Given the description of an element on the screen output the (x, y) to click on. 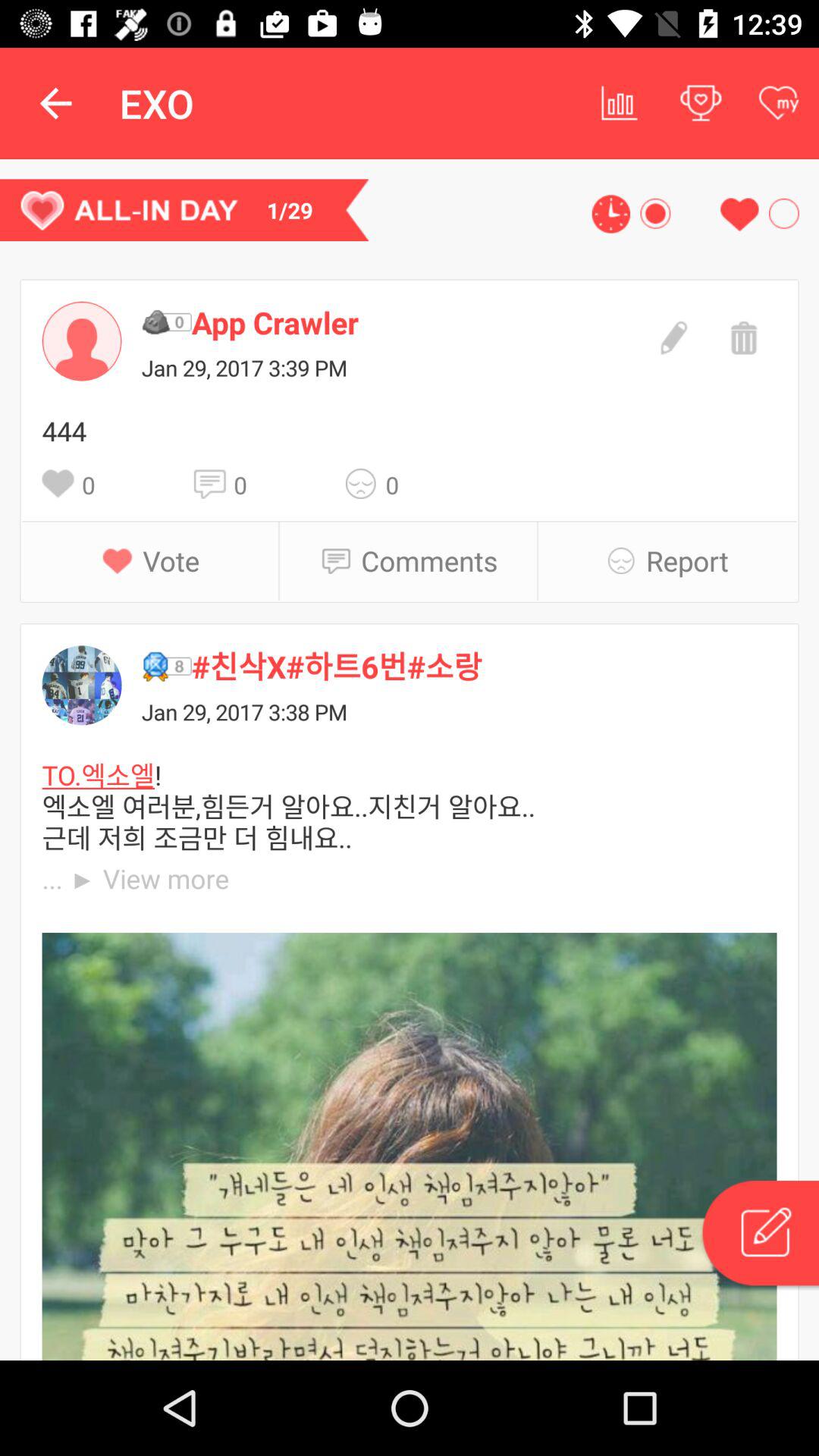
select the app next to exo (619, 103)
